Given the description of an element on the screen output the (x, y) to click on. 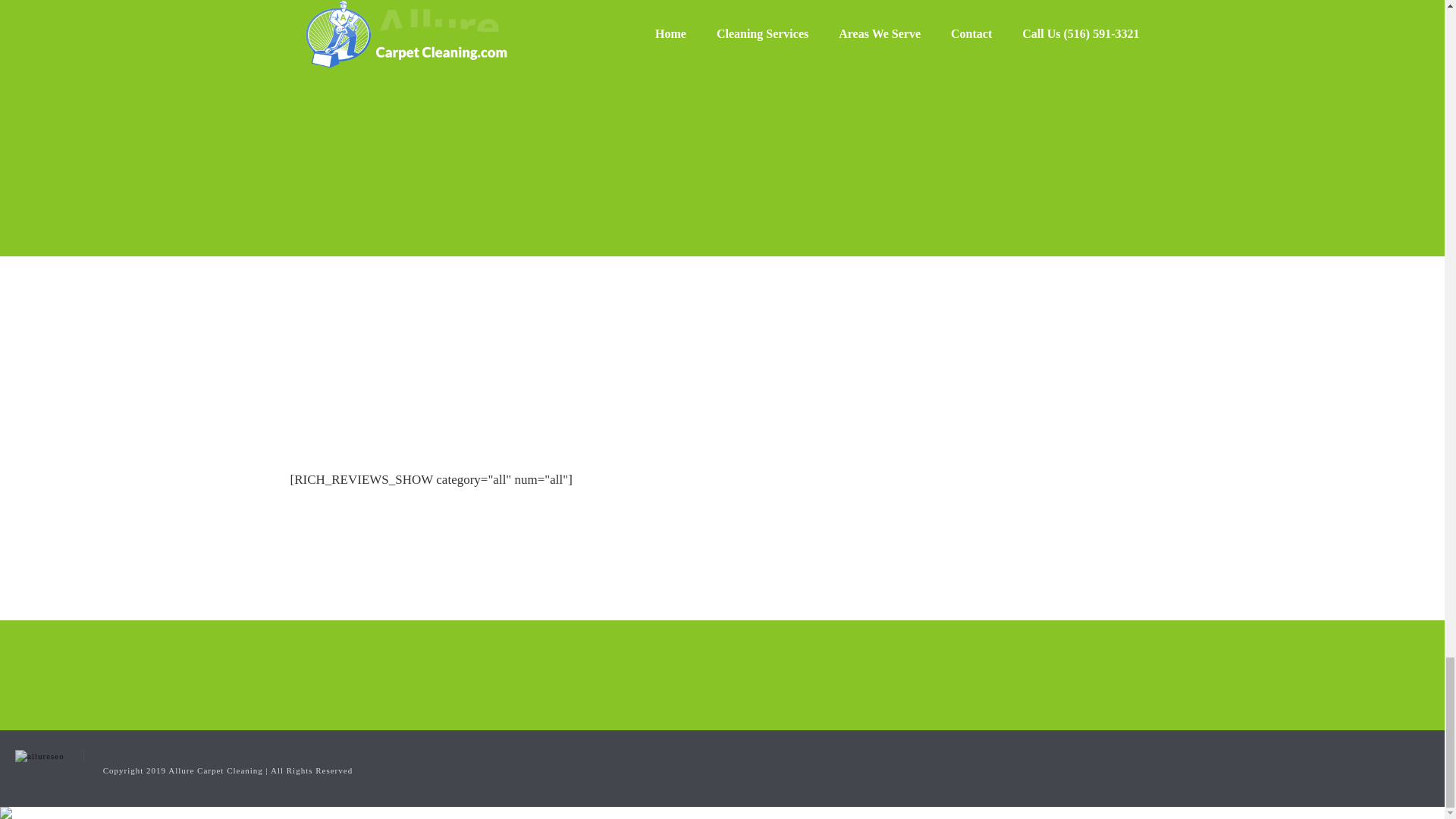
Allure Carpet Cleaning (215, 769)
